Given the description of an element on the screen output the (x, y) to click on. 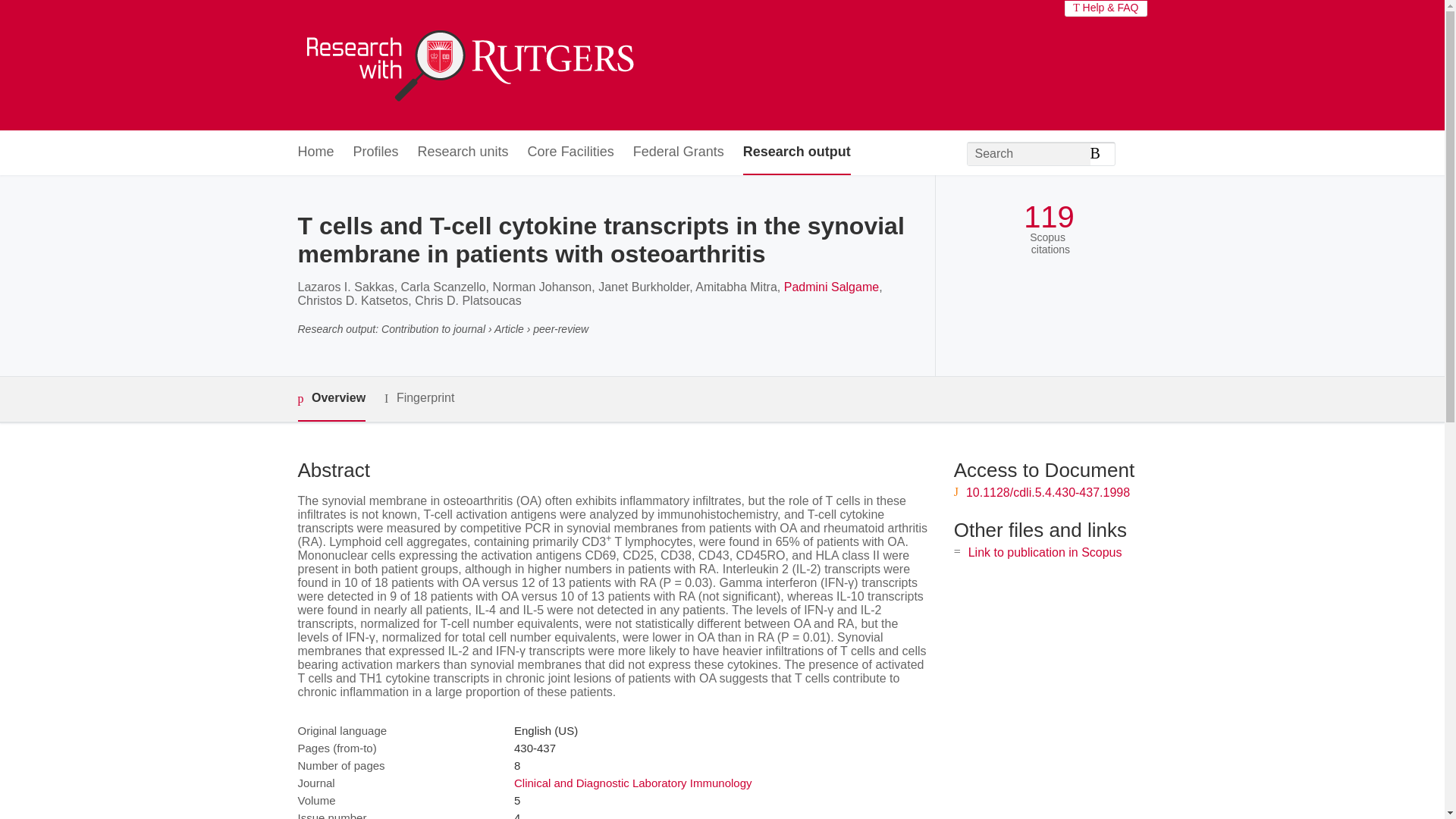
Fingerprint (419, 398)
Research units (462, 152)
Clinical and Diagnostic Laboratory Immunology (632, 782)
Federal Grants (678, 152)
Overview (331, 398)
Rutgers, The State University of New Jersey Home (467, 65)
Core Facilities (570, 152)
119 (1048, 216)
Research output (796, 152)
Padmini Salgame (831, 286)
Profiles (375, 152)
Link to publication in Scopus (1045, 552)
